Given the description of an element on the screen output the (x, y) to click on. 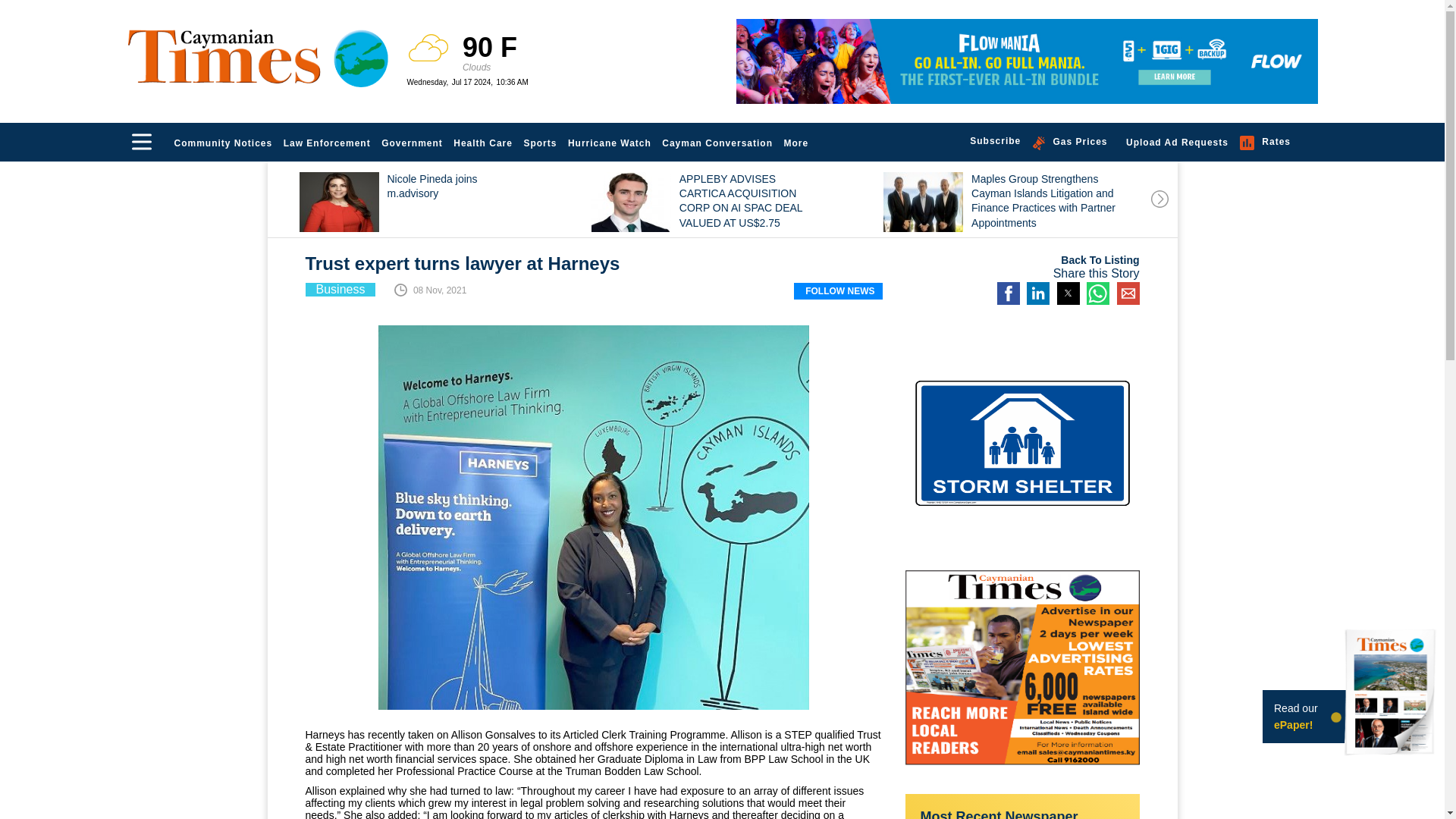
Law Enforcement (326, 143)
Sports (539, 143)
Hurricane Watch (609, 143)
Health Care (482, 143)
Cayman Conversation (717, 143)
Caymanian Times (258, 55)
Community Notices (223, 143)
Nicole Pineda joins m.advisory (440, 203)
Health Care (482, 143)
FLOW (1026, 61)
Community Notices (223, 143)
More (796, 143)
Sports (539, 143)
Cayman Conversation (717, 143)
